Given the description of an element on the screen output the (x, y) to click on. 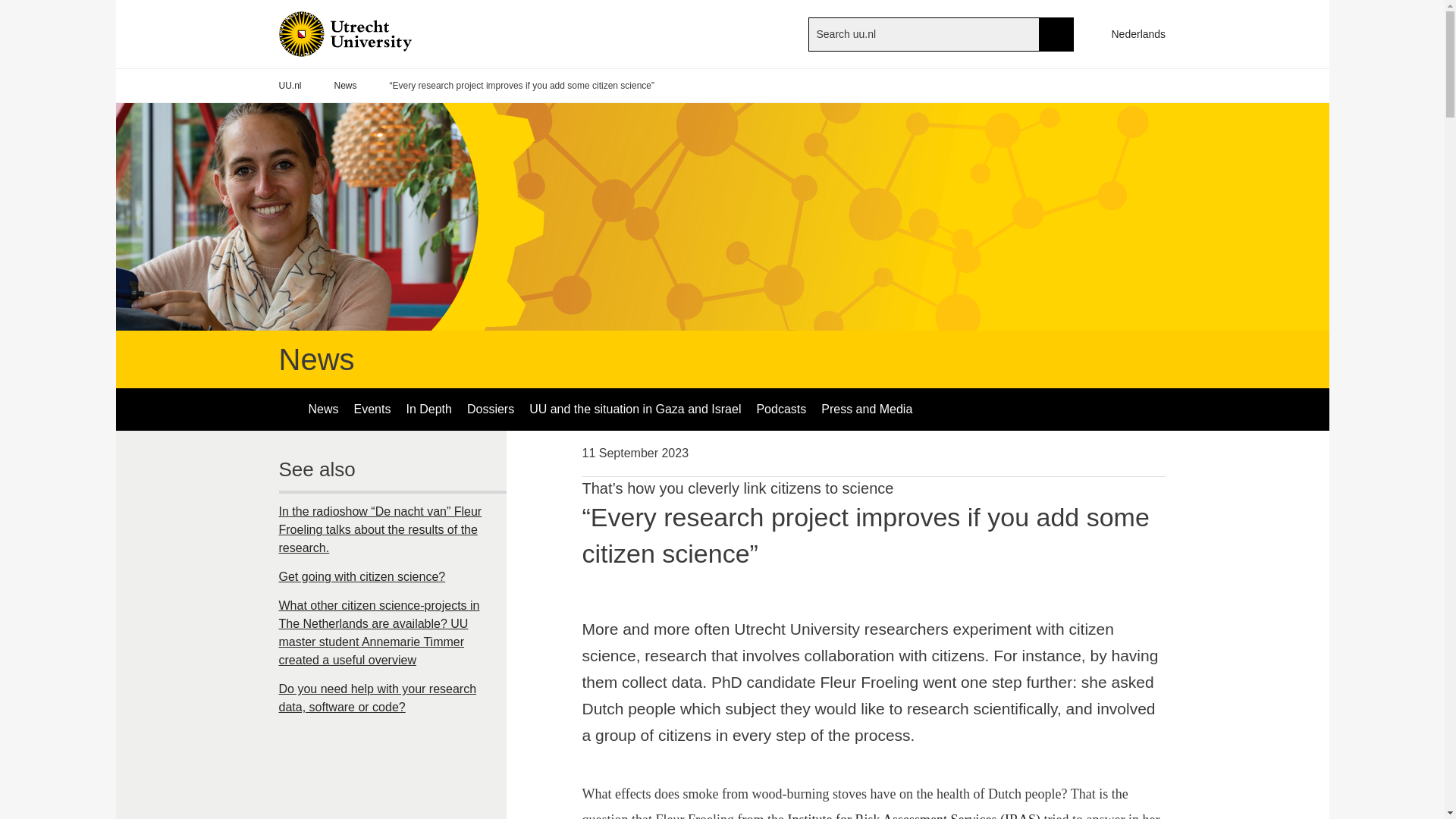
Home (370, 33)
Press and Media (866, 409)
Dossiers (490, 409)
SEARCH (1056, 33)
Skip to main content (7, 7)
Events (372, 409)
UU.nl (290, 85)
News (322, 409)
News (345, 85)
Nederlands (1131, 33)
Get going with citizen science? (392, 576)
In Depth (427, 409)
